Given the description of an element on the screen output the (x, y) to click on. 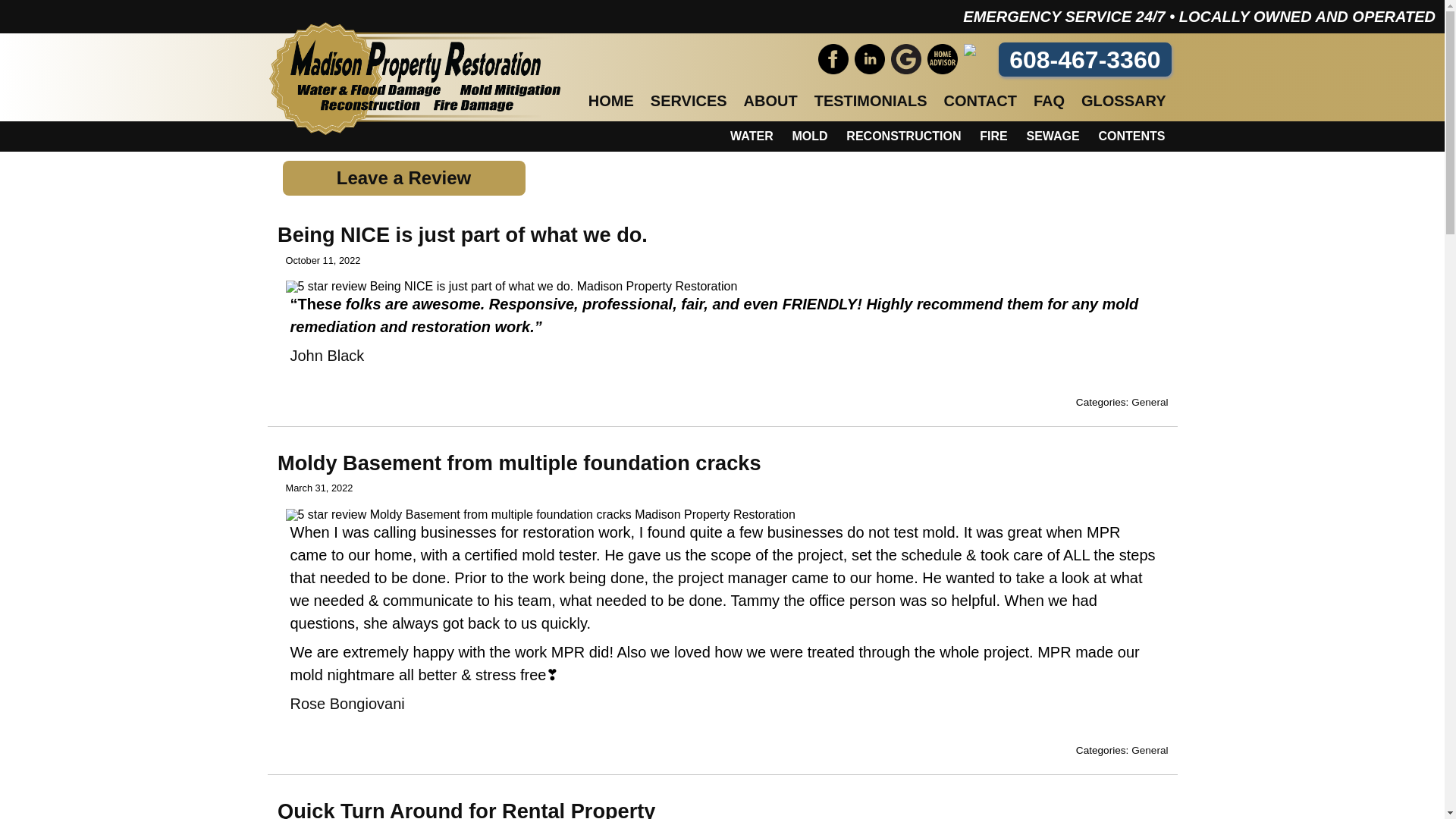
SERVICES (688, 100)
CONTENTS (1130, 136)
Moldy Basement from multiple foundation cracks (519, 463)
TESTIMONIALS (870, 100)
General (1149, 749)
SEWAGE (1052, 136)
RECONSTRUCTION (903, 136)
MOLD (809, 136)
Being NICE is just part of what we do. (462, 234)
John Black (326, 355)
